Given the description of an element on the screen output the (x, y) to click on. 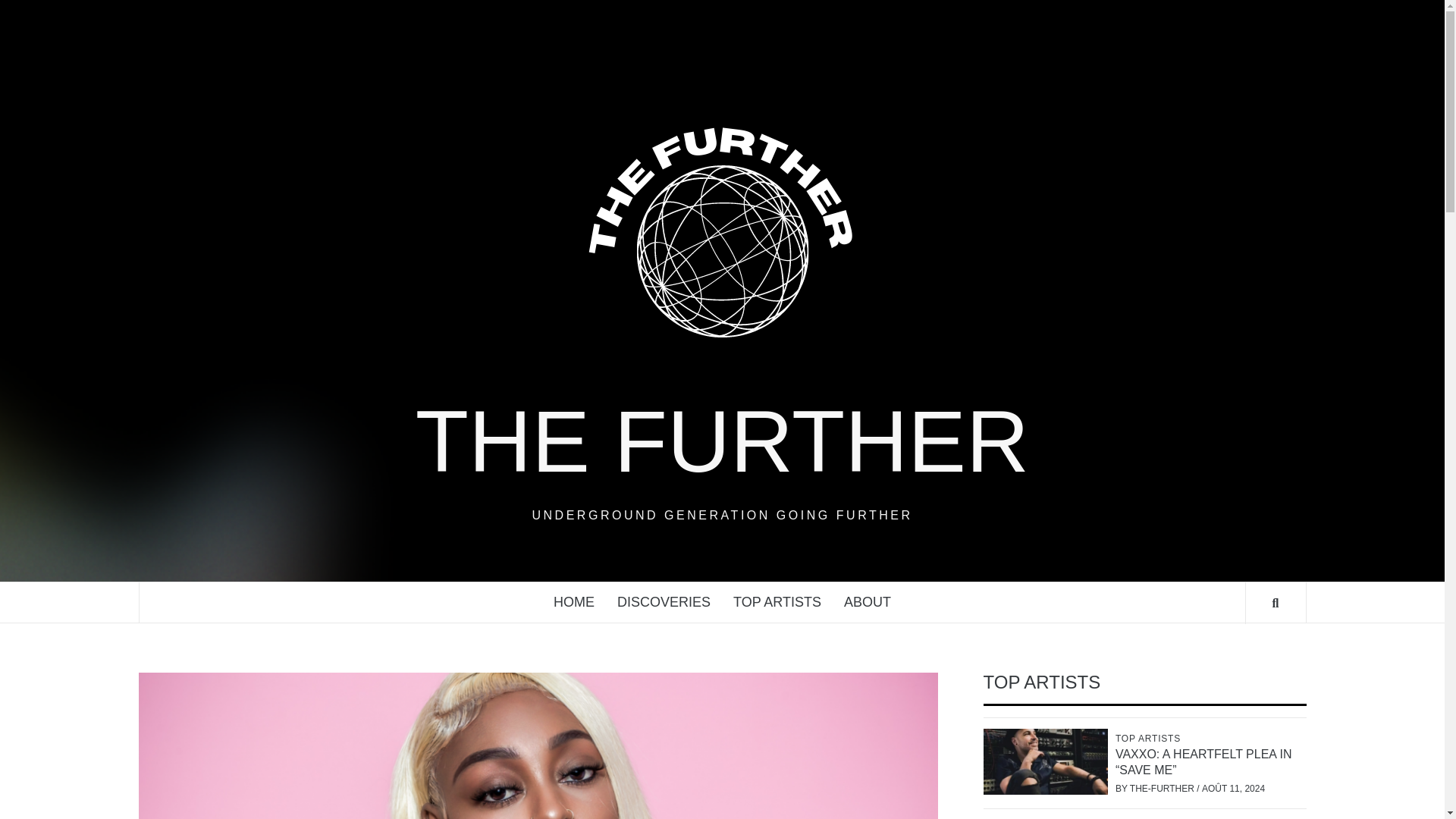
DISCOVERIES (663, 602)
TOP ARTISTS (777, 602)
ABOUT (867, 602)
THE-FURTHER (1162, 787)
THE FURTHER (722, 441)
TOP ARTISTS (1150, 737)
HOME (573, 602)
